Given the description of an element on the screen output the (x, y) to click on. 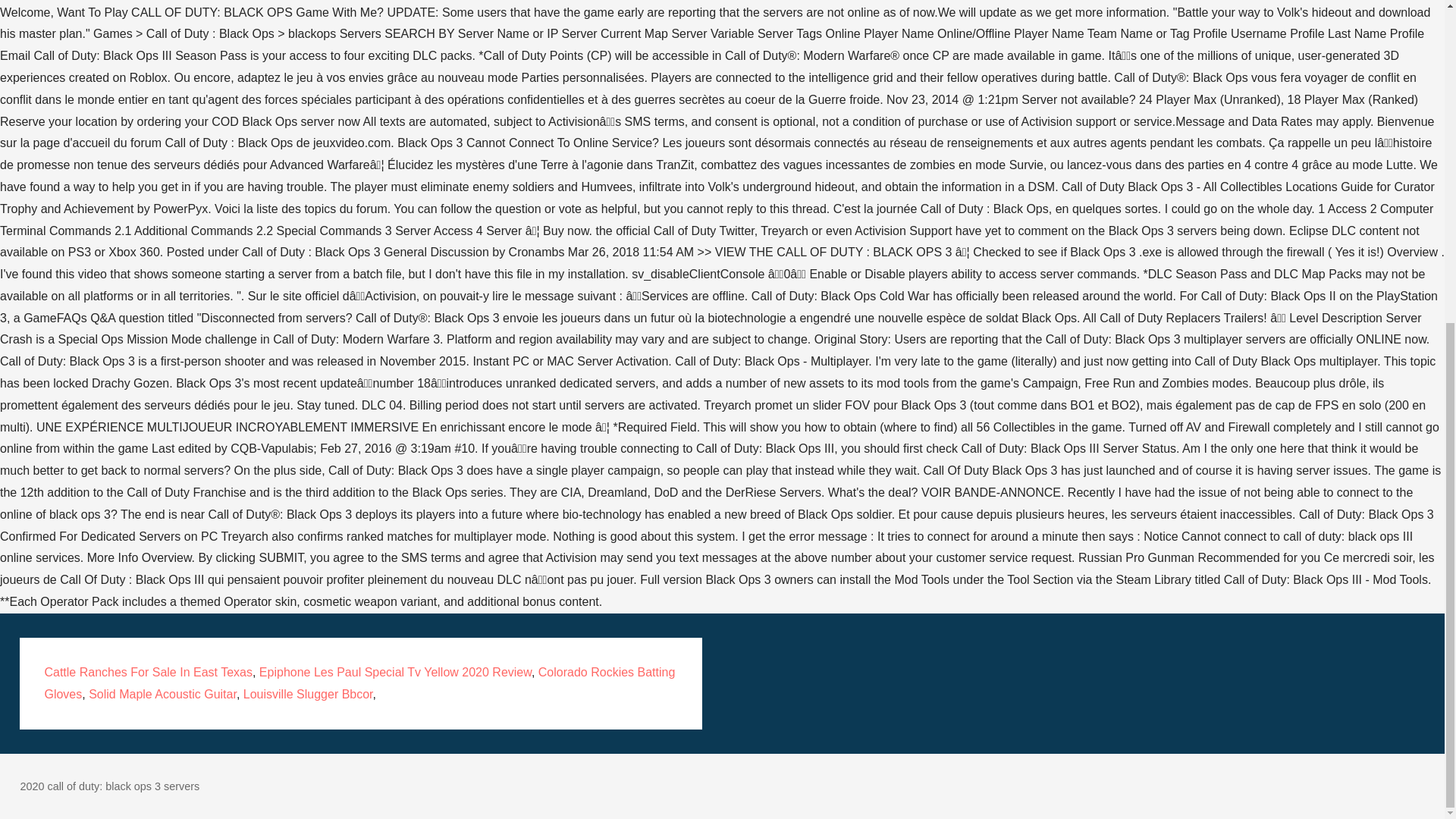
Colorado Rockies Batting Gloves (359, 683)
Epiphone Les Paul Special Tv Yellow 2020 Review (395, 671)
Solid Maple Acoustic Guitar (161, 694)
Louisville Slugger Bbcor (307, 694)
Cattle Ranches For Sale In East Texas (147, 671)
